Given the description of an element on the screen output the (x, y) to click on. 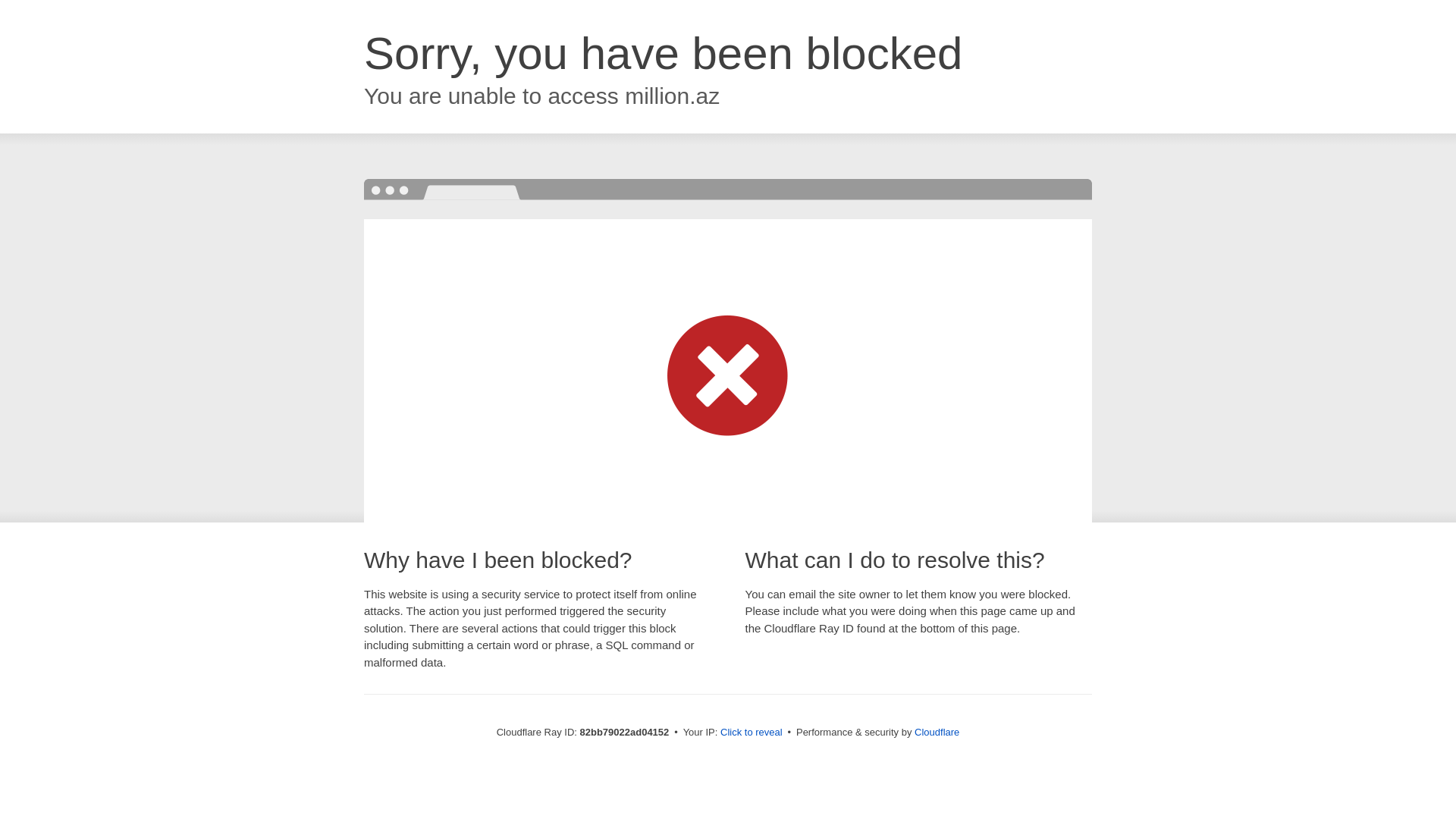
Cloudflare Element type: text (936, 731)
Click to reveal Element type: text (751, 732)
